Given the description of an element on the screen output the (x, y) to click on. 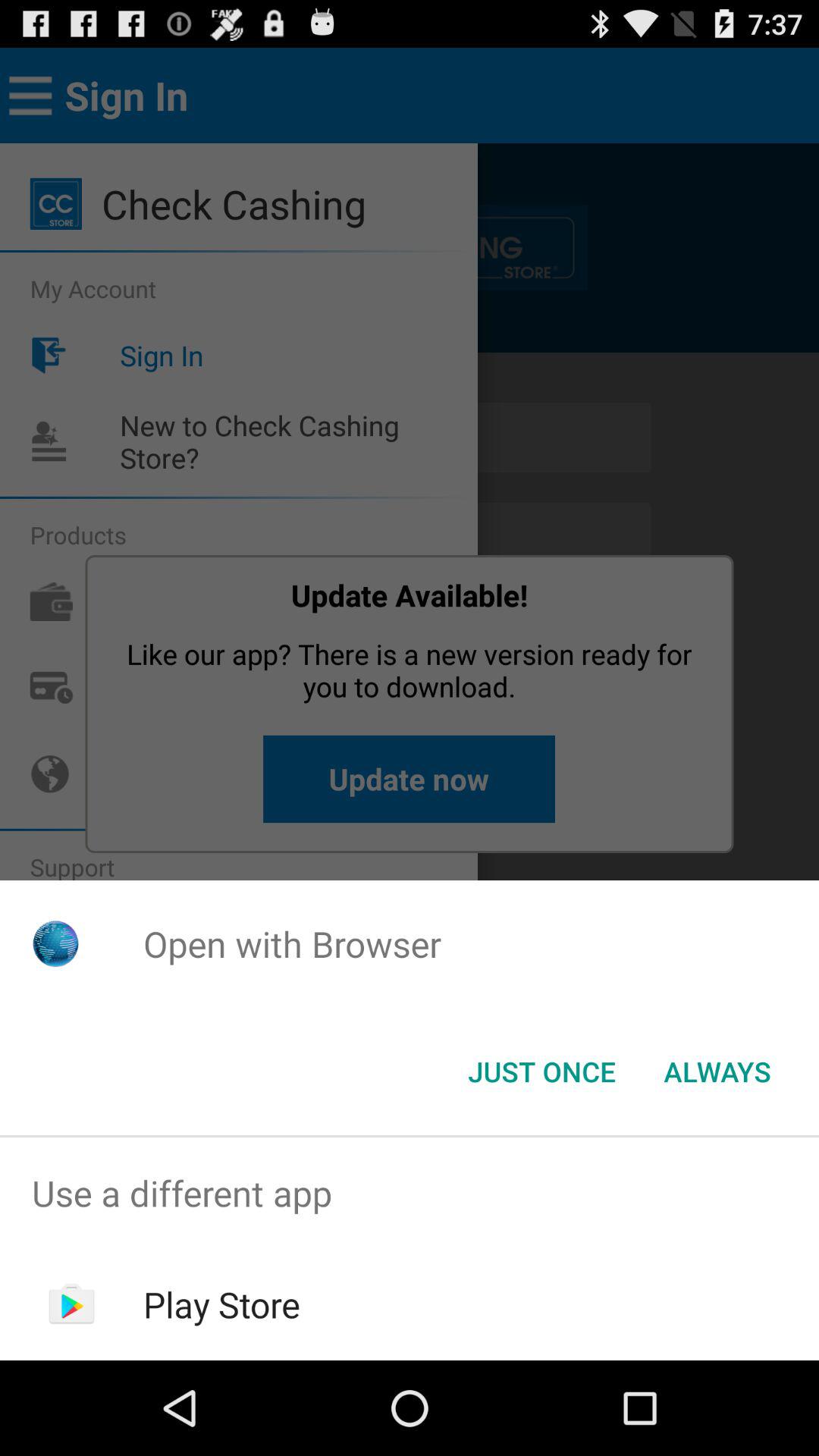
select icon below open with browser app (541, 1071)
